Given the description of an element on the screen output the (x, y) to click on. 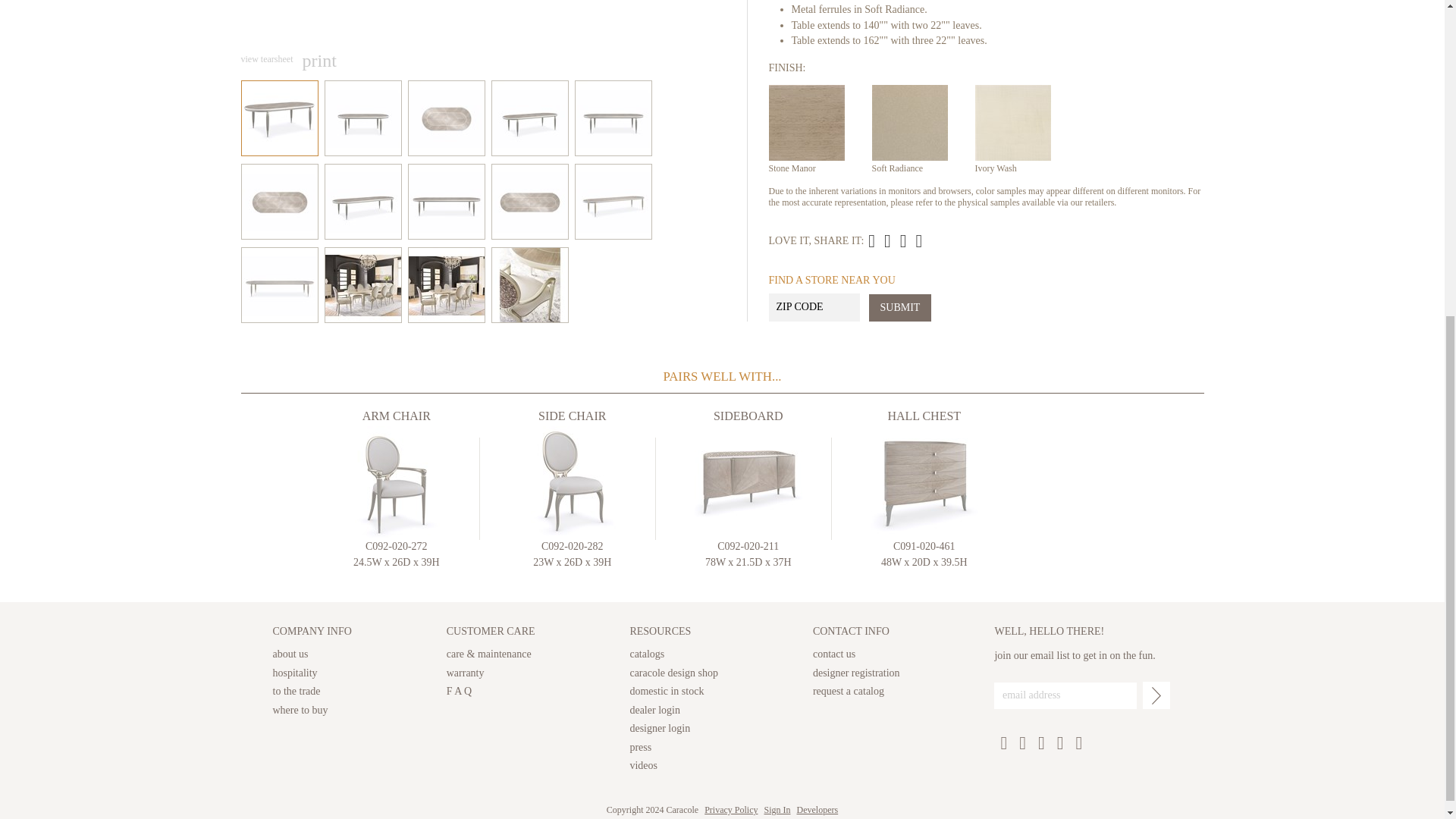
post to facebook (903, 240)
send to friend (871, 240)
Dining Table (894, 240)
post to twitter (919, 240)
post to pinterest (887, 240)
